Given the description of an element on the screen output the (x, y) to click on. 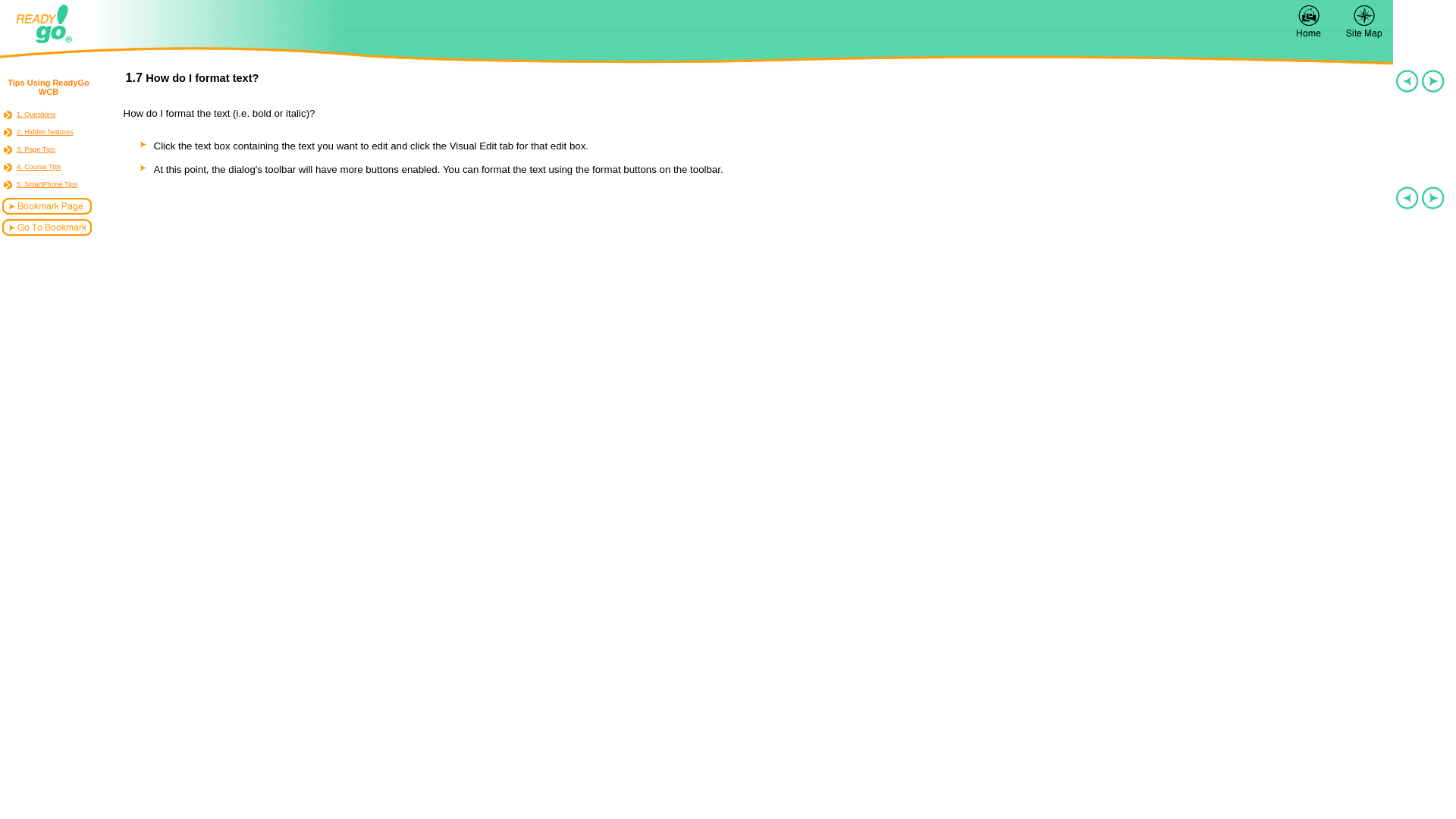
Back (1364, 20)
